Given the description of an element on the screen output the (x, y) to click on. 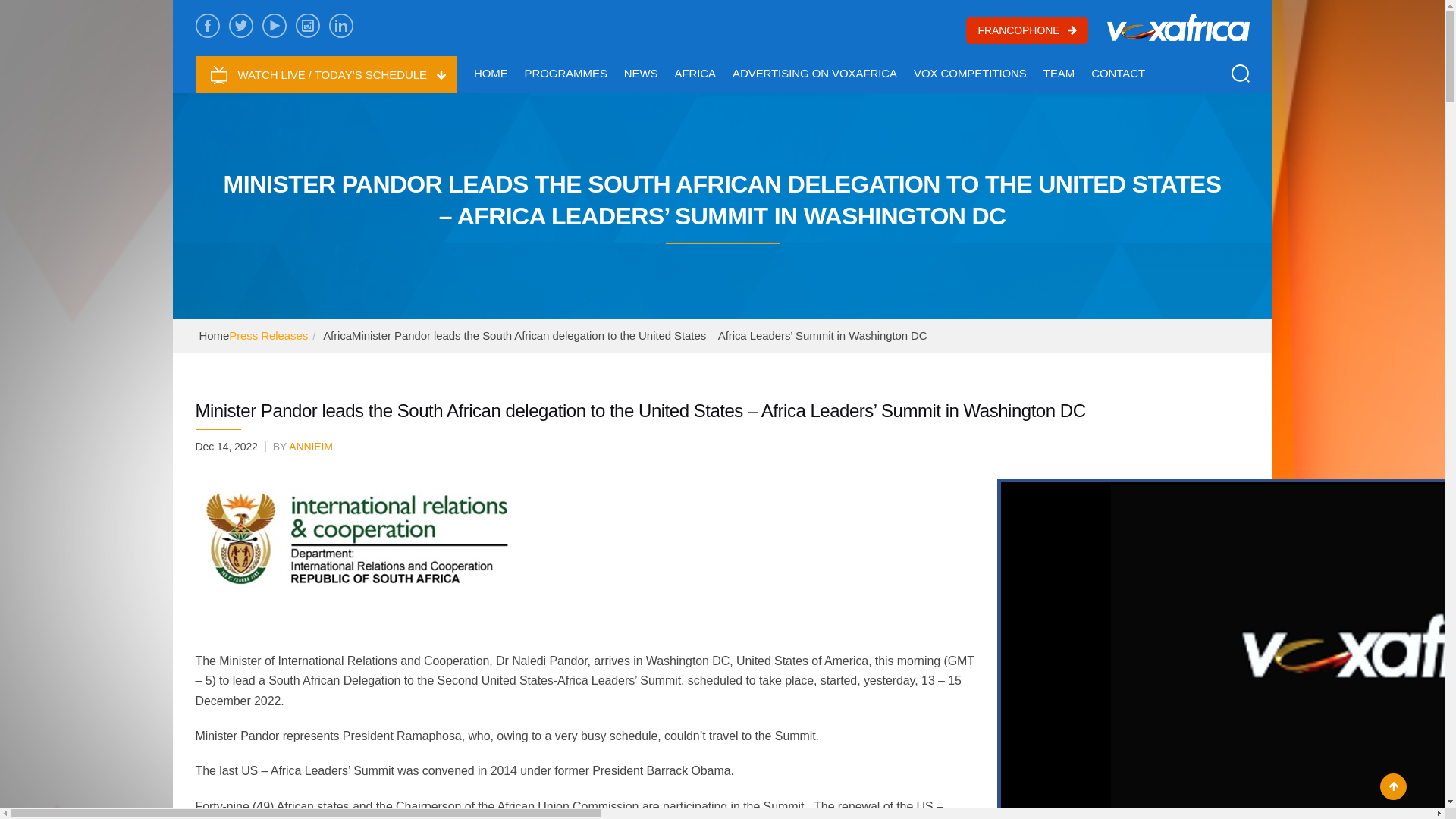
TEAM (1058, 73)
NEWS (641, 73)
Youtube (274, 25)
Press Releases (267, 335)
CONTACT (1117, 73)
PROGRAMMES (565, 73)
Linked In (341, 25)
Home (213, 335)
Search Trigger (1240, 73)
Twitter (240, 25)
